Given the description of an element on the screen output the (x, y) to click on. 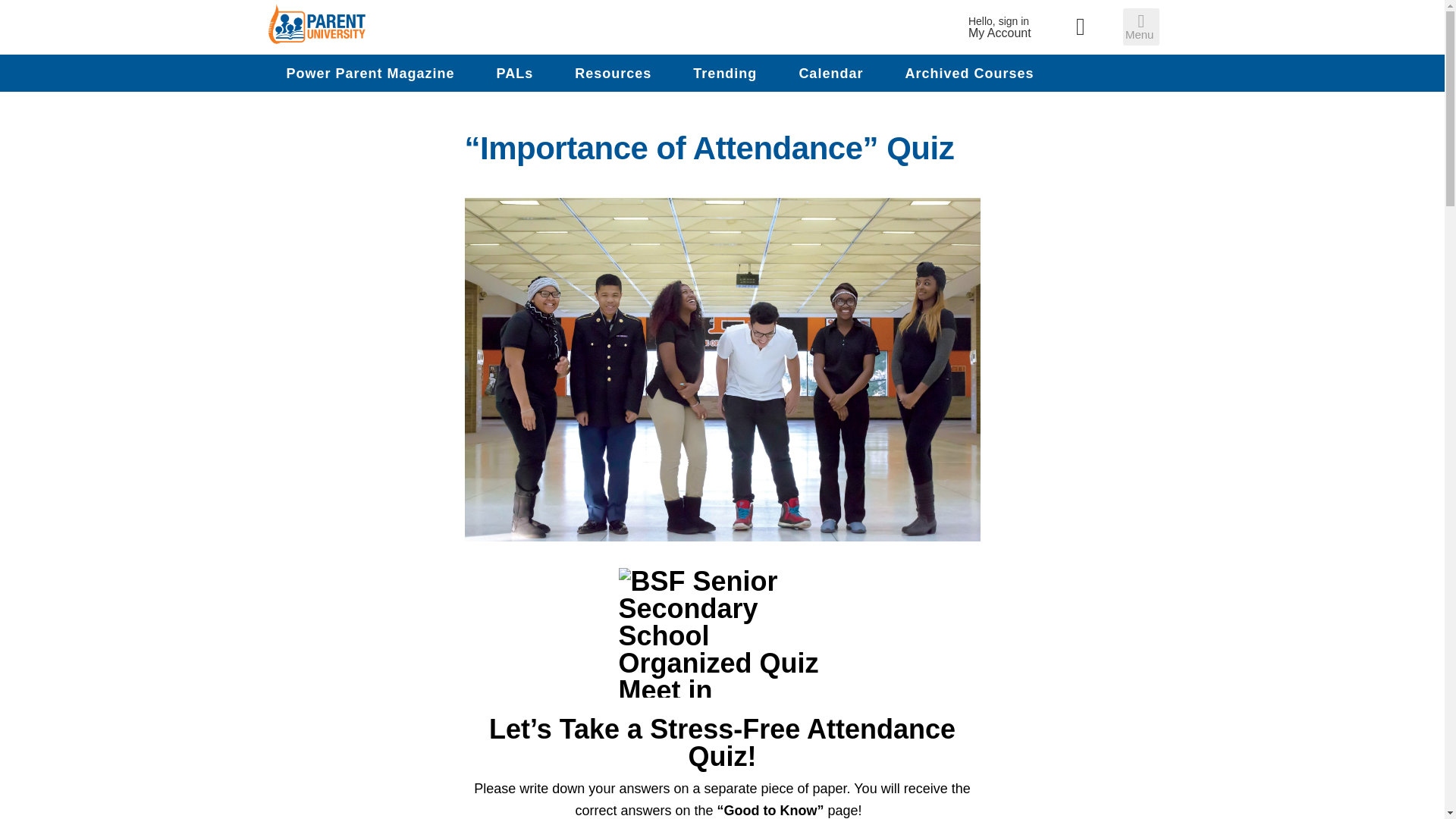
Trending (725, 72)
Resources (612, 72)
Show Search (1080, 26)
PALs (999, 26)
Calendar (515, 72)
Power Parent Magazine (830, 72)
Skip to primary navigation (369, 72)
